Given the description of an element on the screen output the (x, y) to click on. 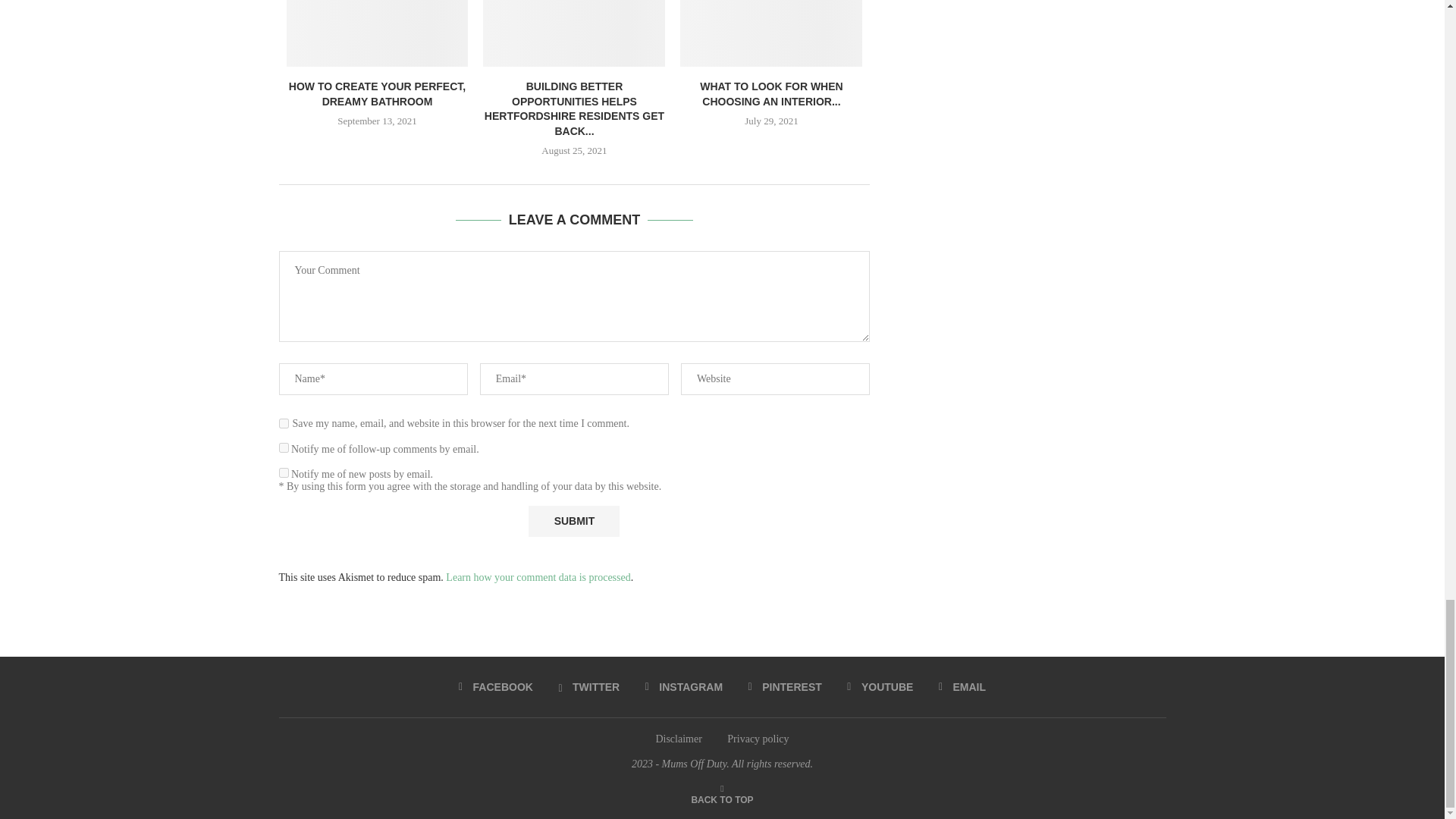
What to look for when choosing an interior designer (770, 33)
yes (283, 423)
Submit (574, 521)
subscribe (283, 447)
How to create your perfect, dreamy bathroom (377, 33)
subscribe (283, 472)
